Given the description of an element on the screen output the (x, y) to click on. 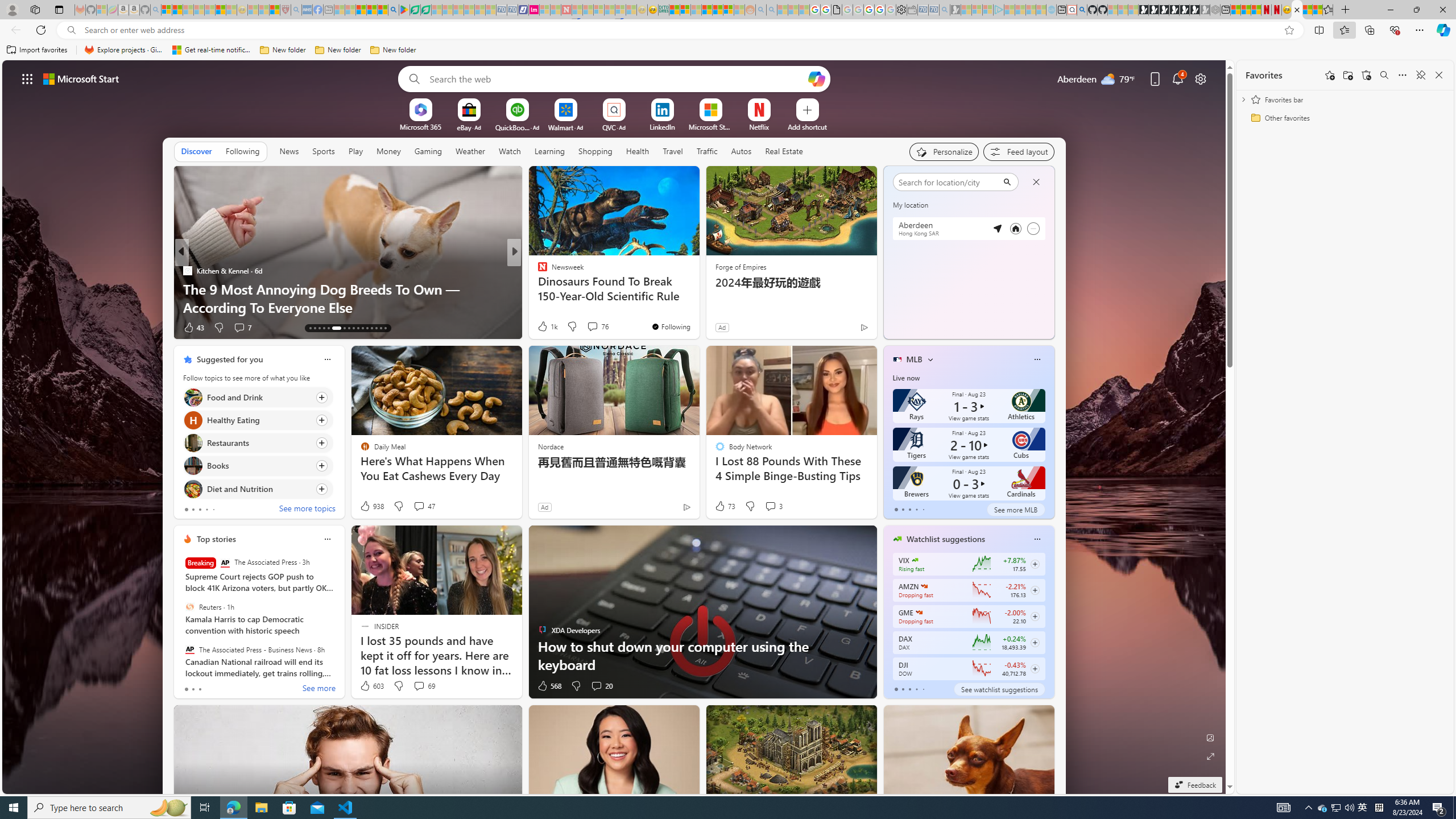
AutomationID: tab-13 (310, 328)
AutomationID: tab-14 (314, 328)
View comments 20 Comment (601, 685)
Diet and Nutrition (192, 488)
Pets - MSN (371, 9)
See full forecast (1013, 329)
The Spicy Chefs (537, 270)
Expand background (1210, 756)
